Given the description of an element on the screen output the (x, y) to click on. 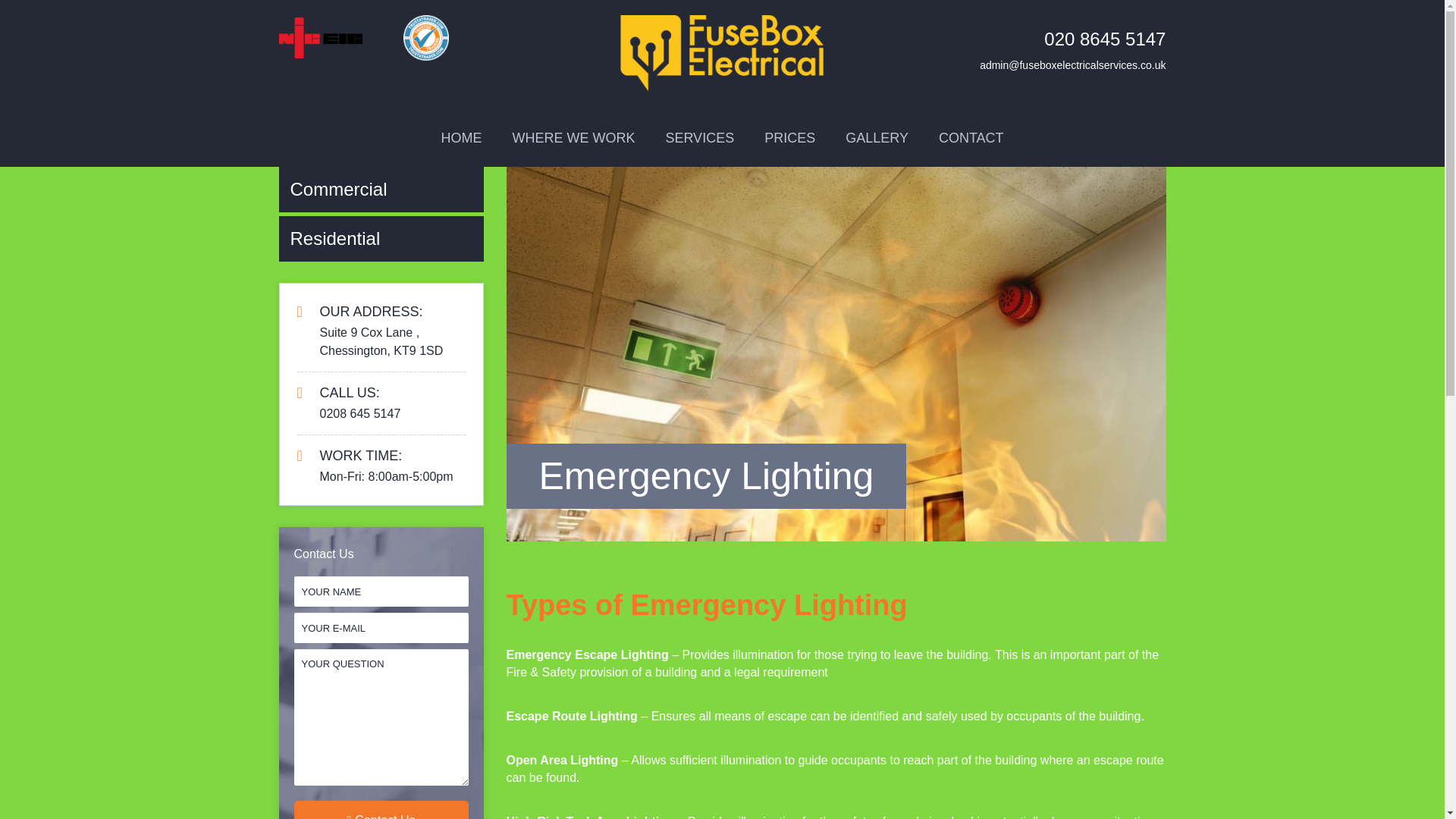
WHERE WE WORK (572, 137)
020 8645 5147 (1104, 38)
HOME (460, 137)
GALLERY (876, 137)
CONTACT (971, 137)
PRICES (789, 137)
Commercial (381, 189)
SERVICES (699, 137)
